Given the description of an element on the screen output the (x, y) to click on. 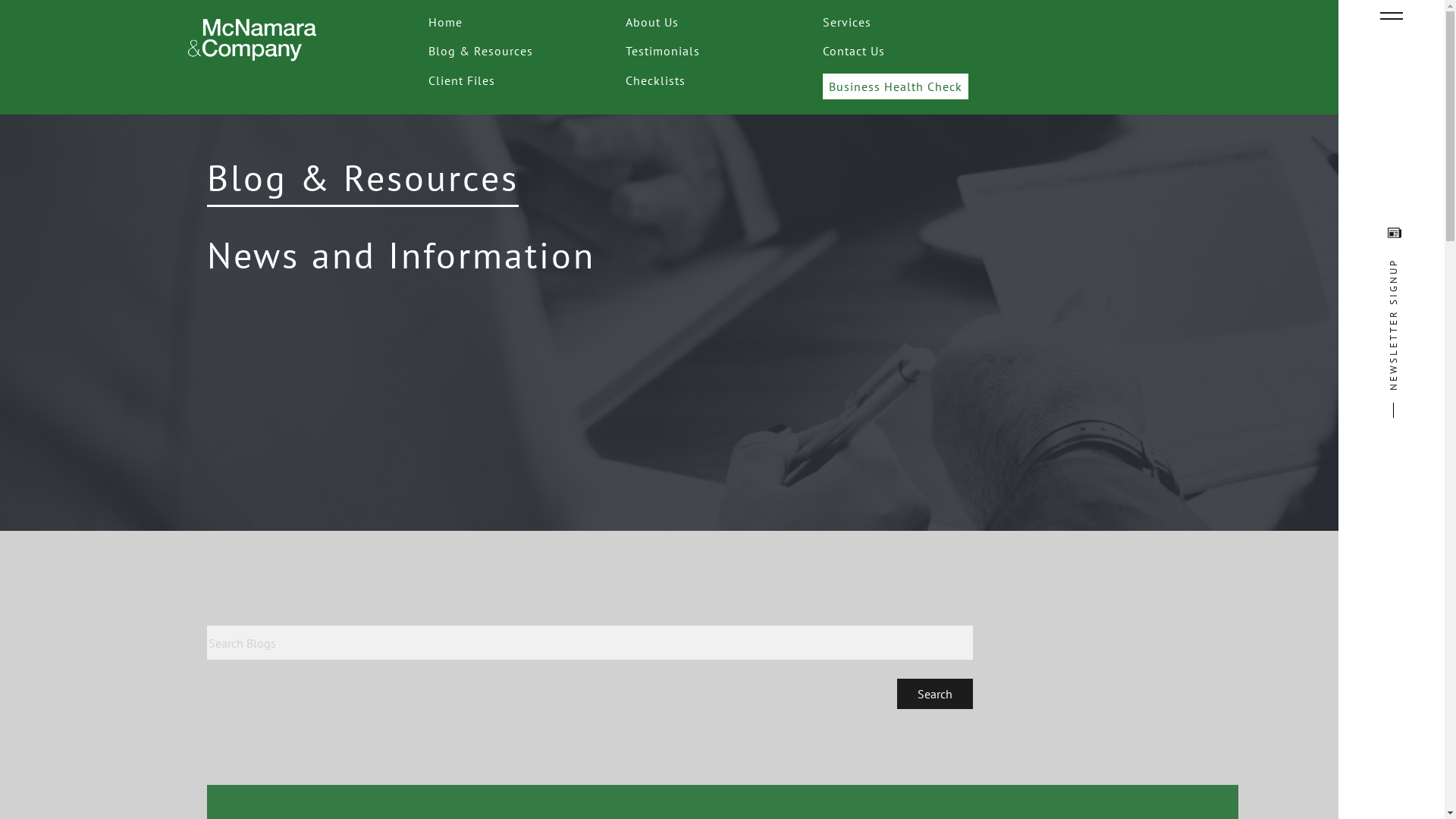
Blog & Resources Element type: text (480, 50)
Home Element type: text (445, 21)
Search Element type: text (934, 693)
Checklists Element type: text (655, 79)
Testimonials Element type: text (662, 50)
Business Health Check Element type: text (895, 86)
About Us Element type: text (651, 21)
Services Element type: text (846, 21)
Client Files Element type: text (461, 79)
Contact Us Element type: text (853, 50)
